Given the description of an element on the screen output the (x, y) to click on. 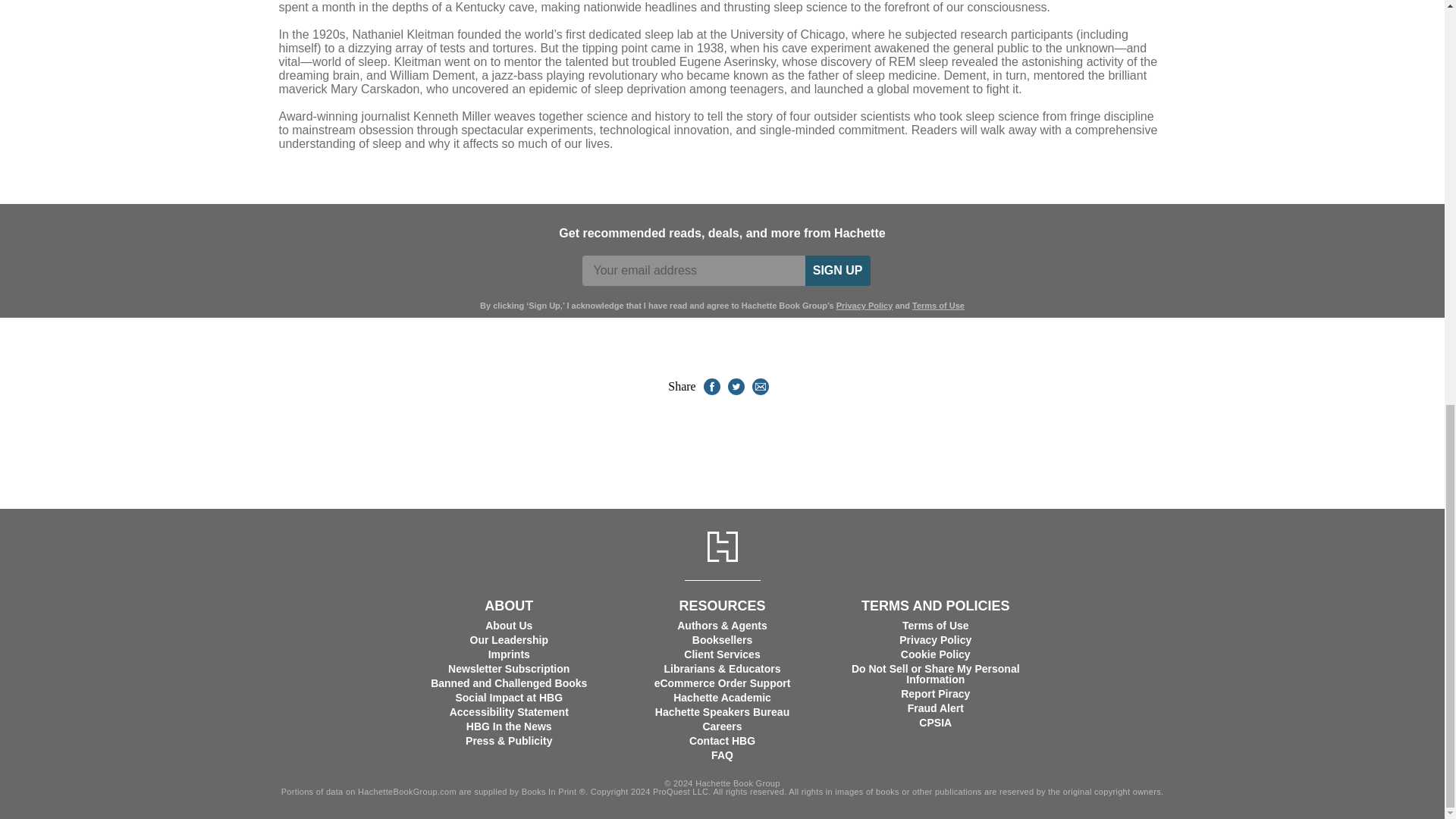
Hachette Logo Large H Initial (721, 546)
